Given the description of an element on the screen output the (x, y) to click on. 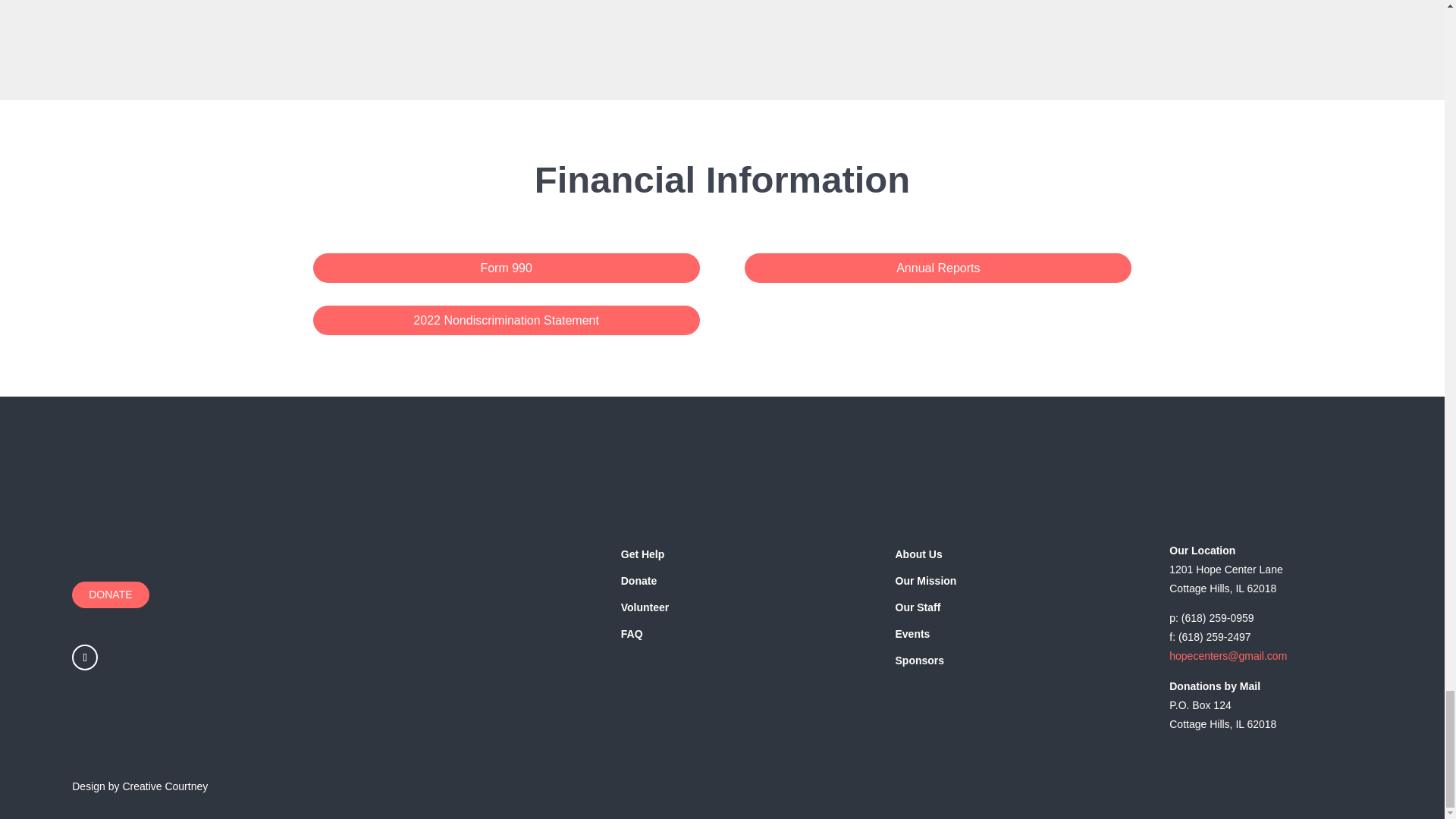
Follow on Facebook (84, 657)
Sponsors (919, 660)
DONATE (109, 595)
Volunteer (645, 607)
FAQ (632, 633)
Annual Reports (937, 267)
2022 Nondiscrimination Statement (505, 319)
About Us (918, 553)
Our Staff (917, 607)
Creative Courtney (165, 786)
